Given the description of an element on the screen output the (x, y) to click on. 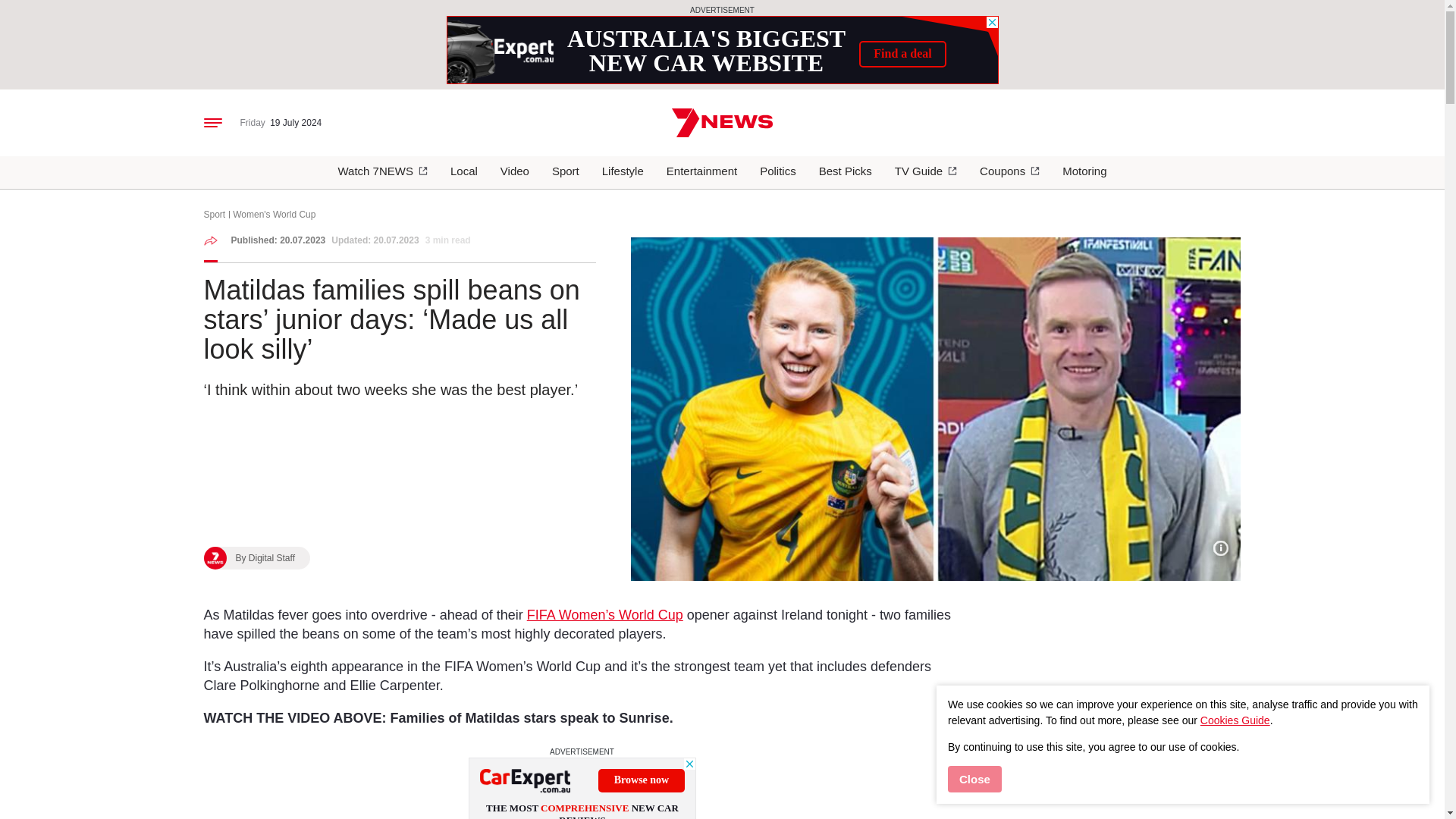
Click to open navigation (212, 122)
3rd party ad content (721, 49)
3rd party ad content (581, 788)
